Given the description of an element on the screen output the (x, y) to click on. 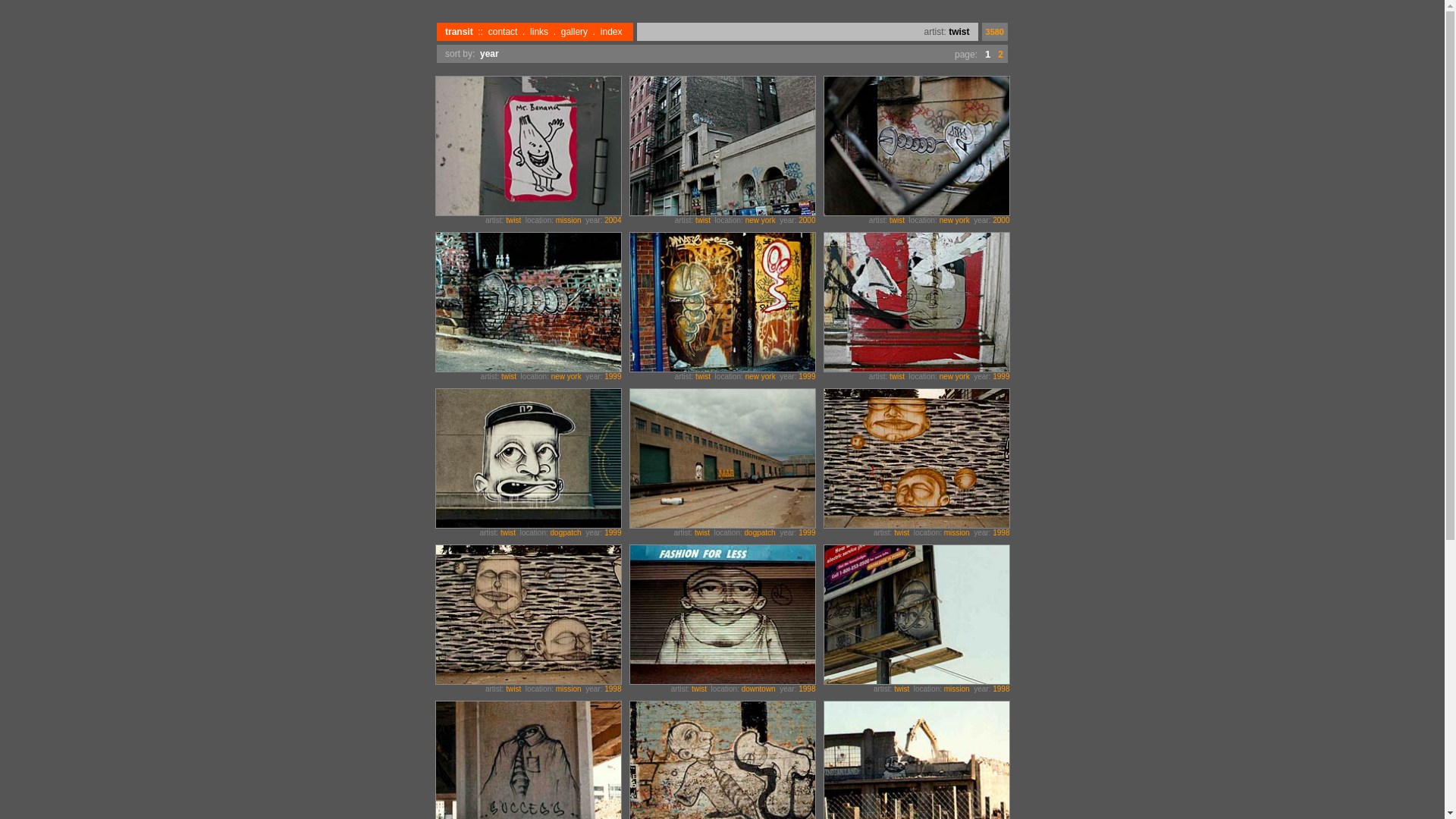
twist Element type: text (507, 532)
1998 Element type: text (612, 688)
2004 Element type: text (612, 220)
mission Element type: text (568, 220)
twist Element type: text (702, 376)
mission Element type: text (568, 688)
twist Element type: text (901, 688)
contact Element type: text (502, 31)
1998 Element type: text (1000, 688)
3580 Element type: text (994, 31)
twist Element type: text (958, 31)
mission Element type: text (956, 532)
twist Element type: text (701, 532)
new york Element type: text (566, 376)
twist Element type: text (901, 532)
dogpatch Element type: text (759, 532)
gallery Element type: text (574, 31)
links Element type: text (539, 31)
twist Element type: text (508, 376)
index Element type: text (611, 31)
twist Element type: text (702, 220)
1999 Element type: text (806, 376)
twist Element type: text (512, 688)
new york Element type: text (954, 376)
2000 Element type: text (806, 220)
1998 Element type: text (1000, 532)
twist Element type: text (896, 376)
1999 Element type: text (1000, 376)
2000 Element type: text (1000, 220)
twist Element type: text (896, 220)
mission Element type: text (956, 688)
twist Element type: text (698, 688)
transit Element type: text (459, 31)
new york Element type: text (760, 376)
dogpatch Element type: text (565, 532)
twist Element type: text (512, 220)
downtown Element type: text (758, 688)
1999 Element type: text (612, 376)
2 Element type: text (1000, 53)
new york Element type: text (760, 220)
new york Element type: text (954, 220)
1998 Element type: text (806, 688)
1999 Element type: text (806, 532)
1999 Element type: text (612, 532)
